Given the description of an element on the screen output the (x, y) to click on. 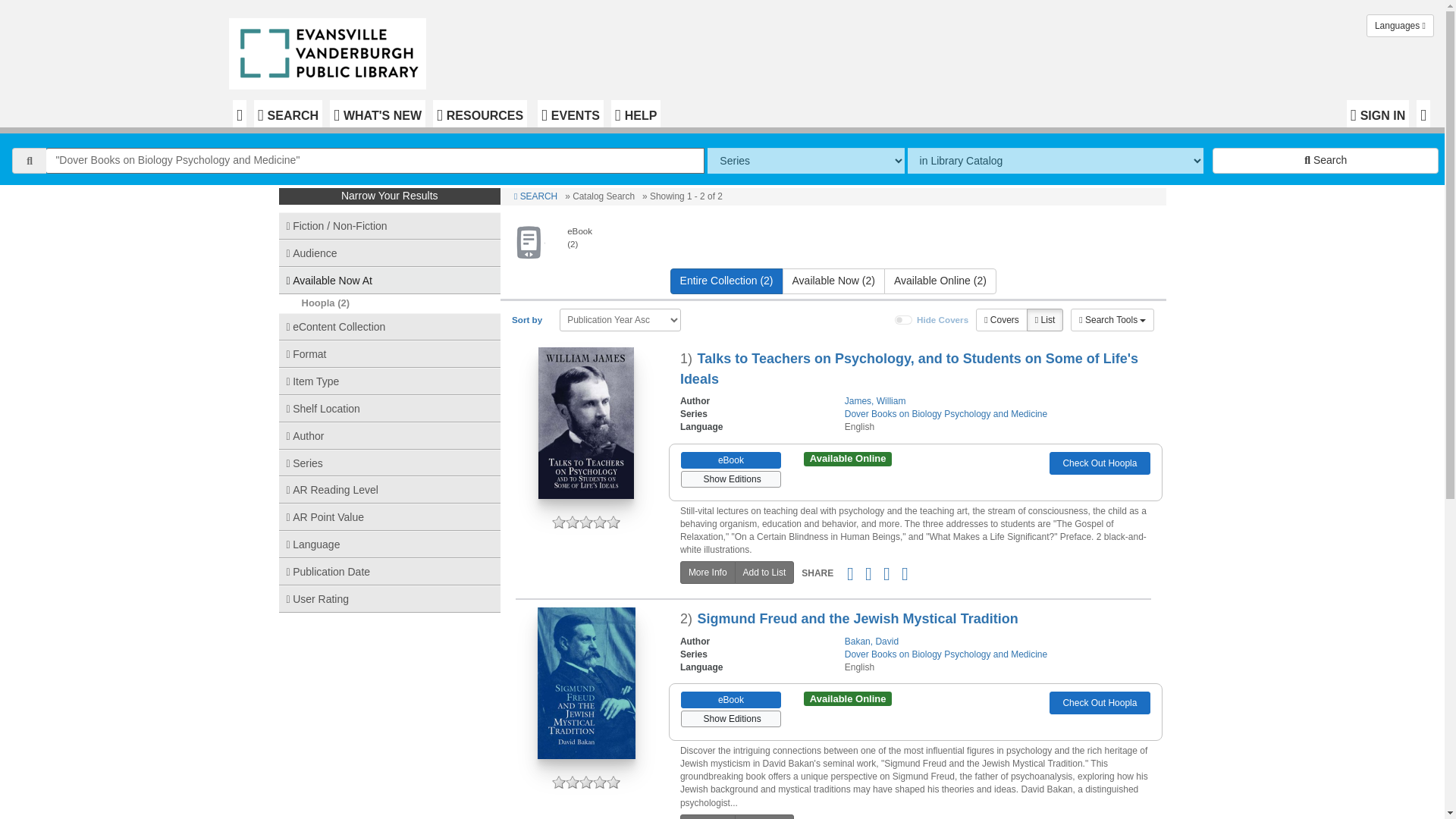
Library Home Page (330, 49)
on (903, 319)
RESOURCES (479, 113)
SEARCH (287, 113)
The method of searching. (805, 160)
WHAT'S NEW (377, 113)
EVENTS (570, 113)
HELP (636, 113)
Login (1377, 113)
"Dover Books on Biology Psychology and Medicine" (375, 160)
